Given the description of an element on the screen output the (x, y) to click on. 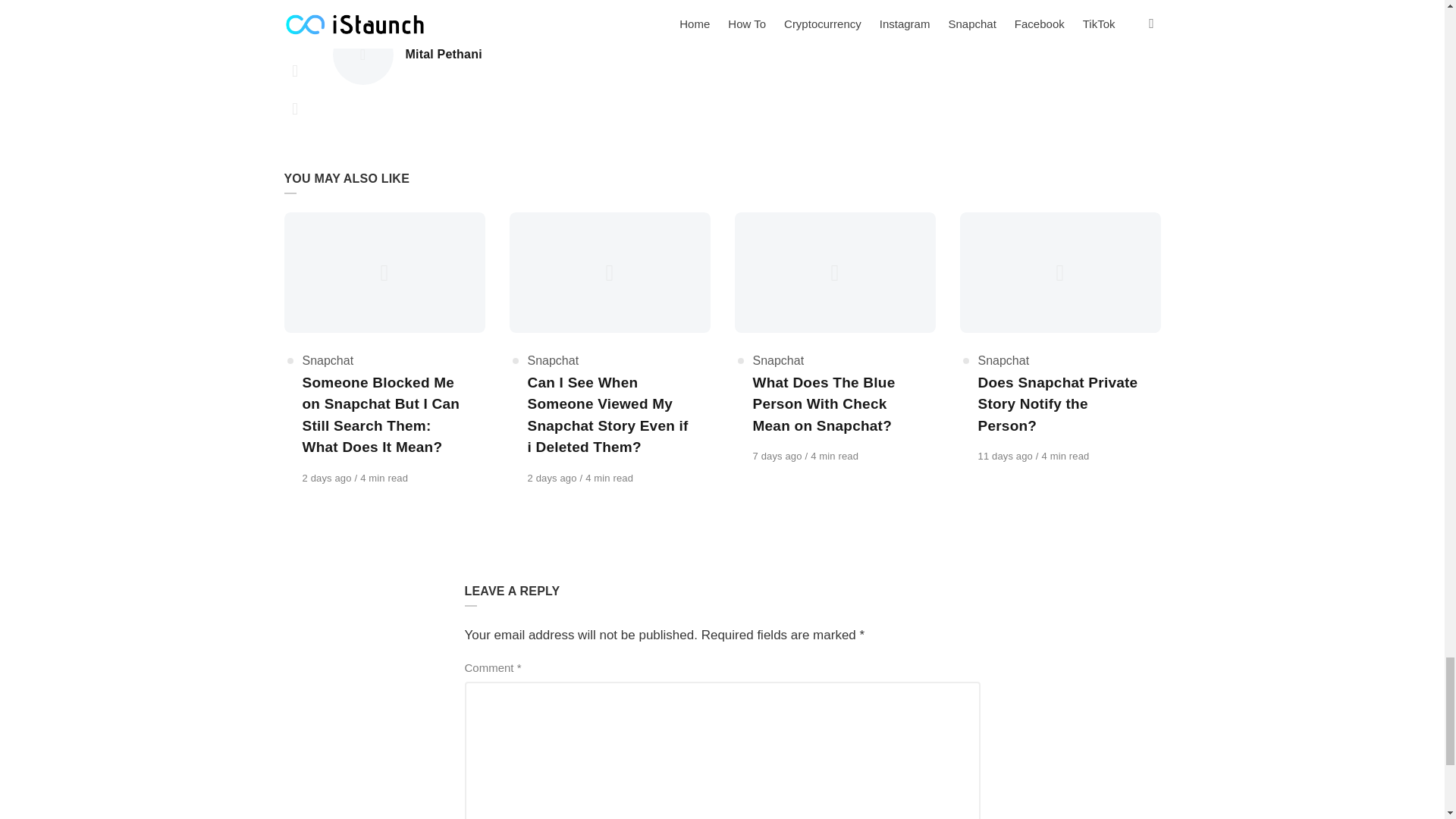
August 8, 2024 (1006, 455)
August 17, 2024 (553, 478)
August 17, 2024 (327, 478)
August 12, 2024 (778, 455)
